Given the description of an element on the screen output the (x, y) to click on. 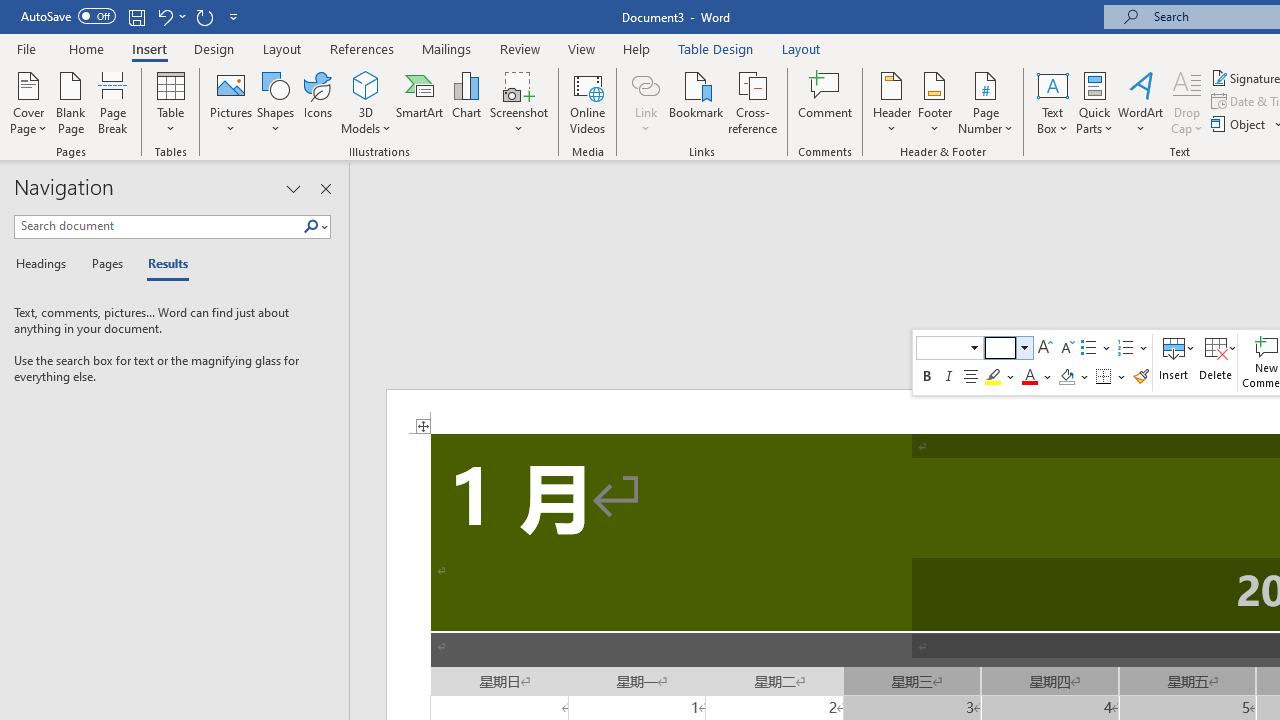
Online Videos... (588, 102)
Drop Cap (1187, 102)
Pictures (230, 102)
Class: NetUIComboboxAnchor (1009, 348)
Bookmark... (695, 102)
Table (170, 102)
